Given the description of an element on the screen output the (x, y) to click on. 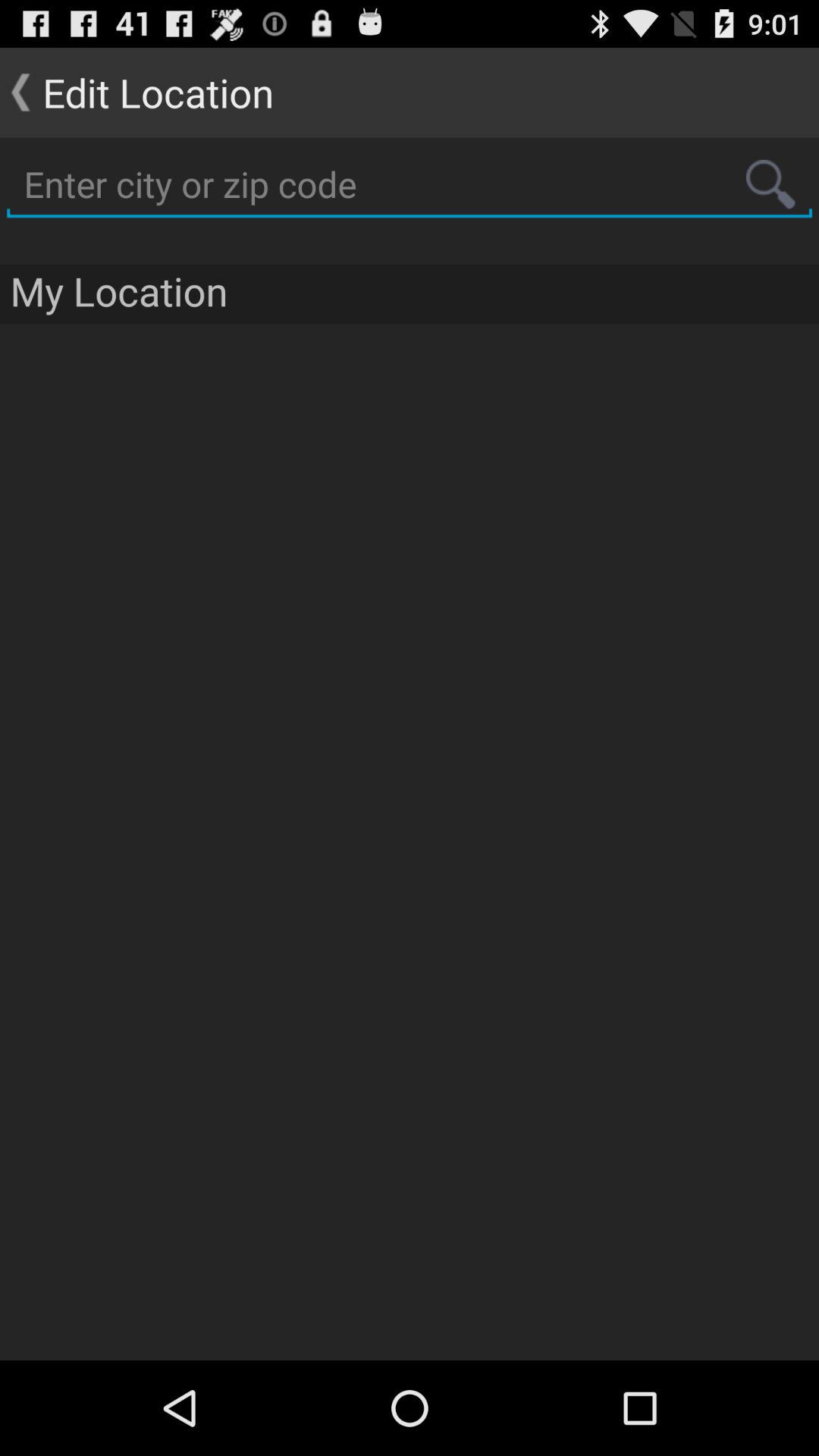
information box (409, 184)
